Given the description of an element on the screen output the (x, y) to click on. 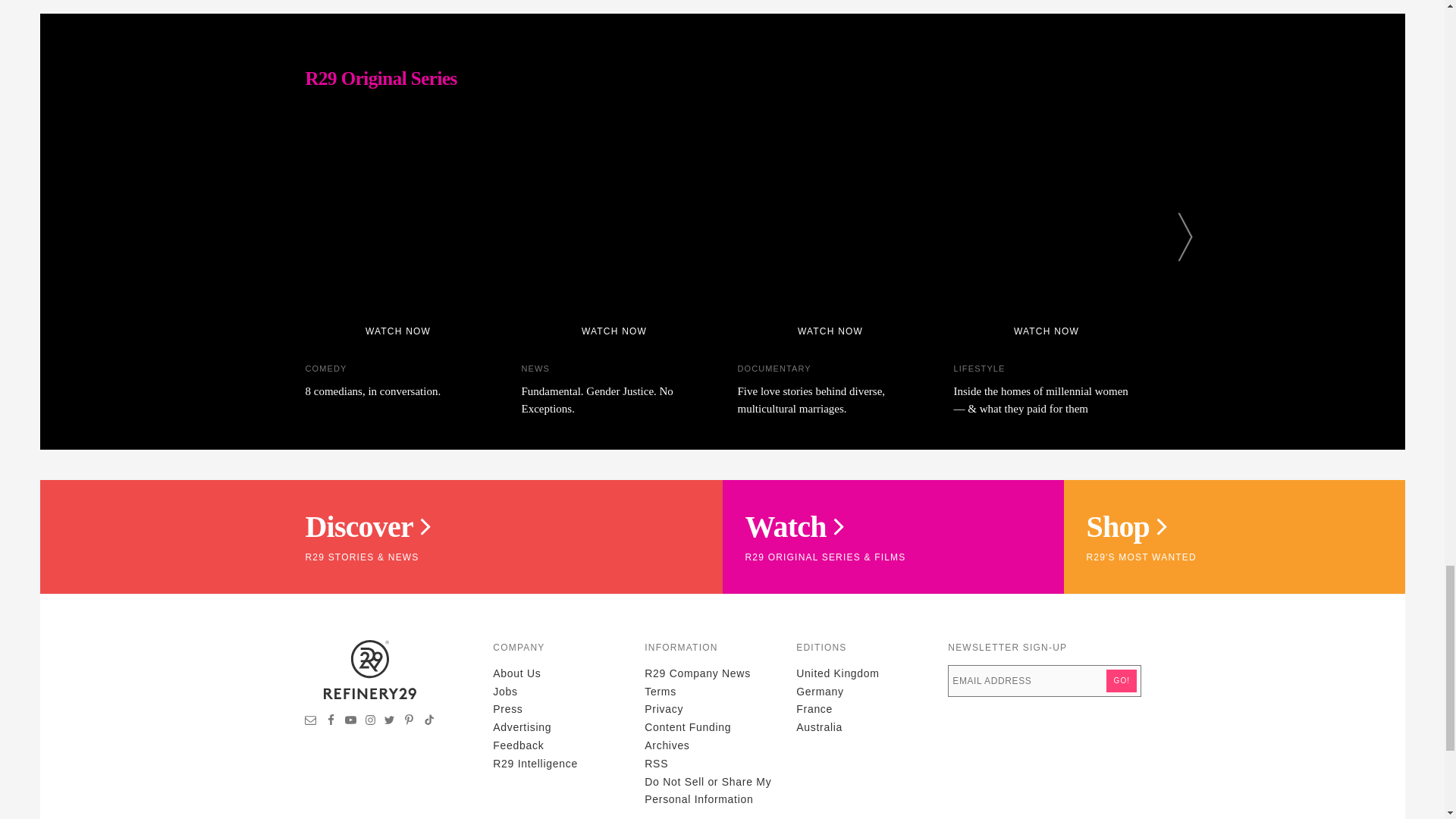
Visit Refinery29 on YouTube (350, 721)
Sign up for newsletters (310, 721)
